Given the description of an element on the screen output the (x, y) to click on. 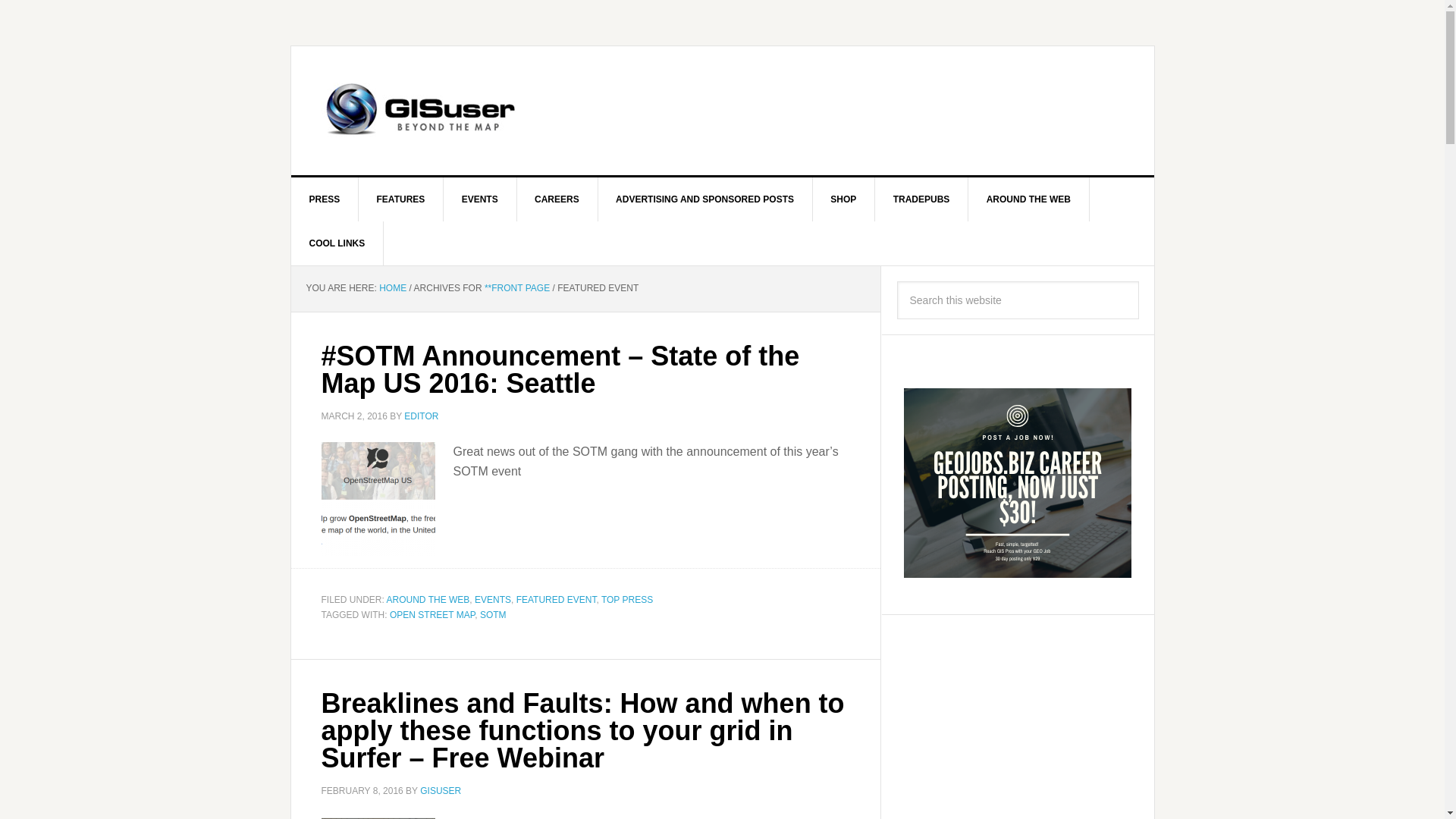
TRADEPUBS (922, 199)
CAREERS (557, 199)
PRESS (325, 199)
GISUSER (440, 790)
ADVERTISING AND SPONSORED POSTS (704, 199)
Press (325, 199)
OPEN STREET MAP (432, 614)
COOL LINKS (337, 243)
shop (843, 199)
SOTM (493, 614)
AROUND THE WEB (1028, 199)
FEATURES (401, 199)
3rd party ad content (823, 110)
3rd party ad content (1017, 724)
